Given the description of an element on the screen output the (x, y) to click on. 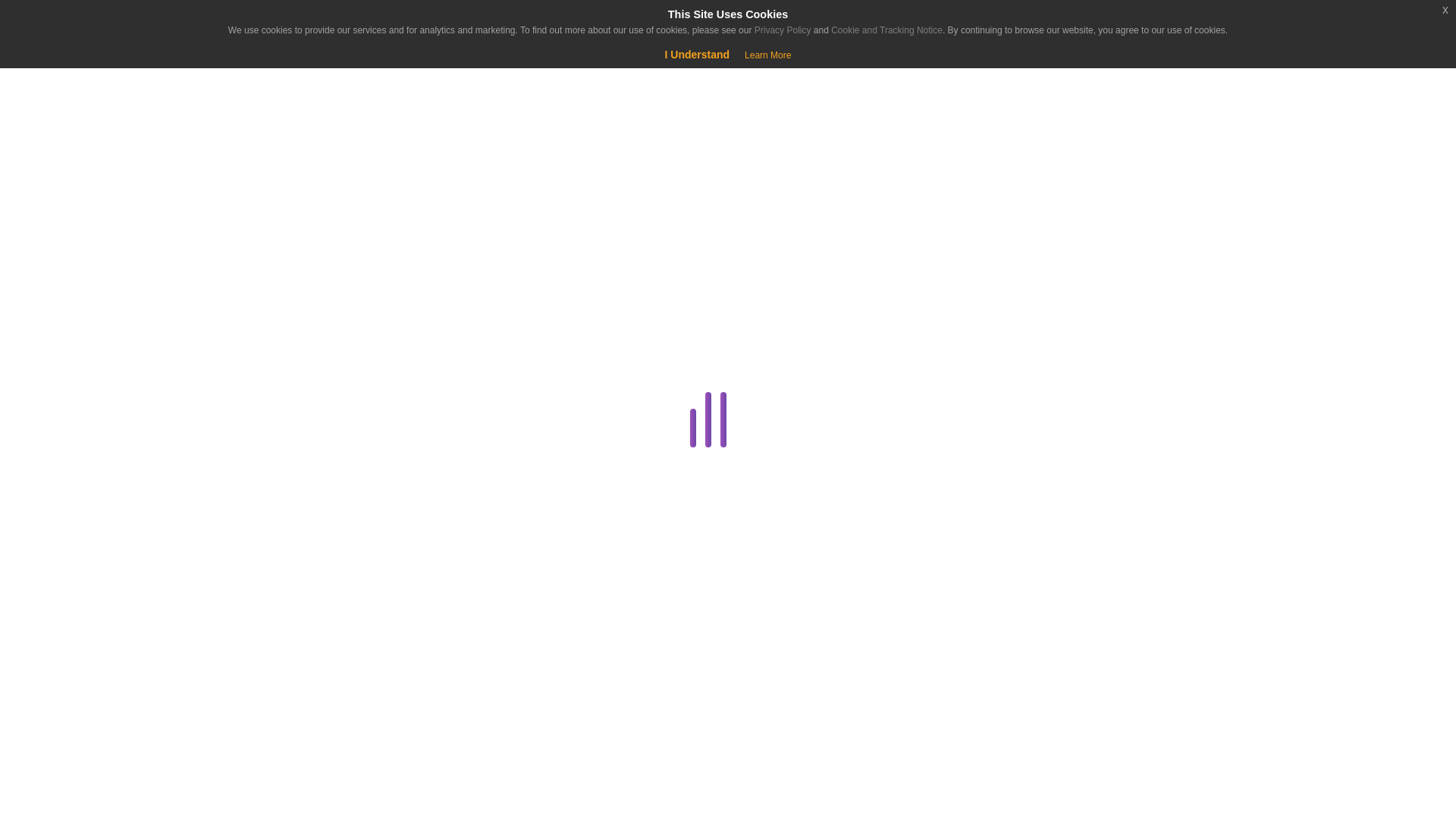
Store (94, 176)
Domains and DNS (281, 531)
FTP (283, 640)
Home (94, 138)
Email (281, 604)
Software (281, 786)
Shopping Cart (59, 76)
Databases (281, 458)
Linux Administration (281, 750)
Billing (281, 349)
Colocation Guides (283, 385)
Video Tutorials (281, 816)
General (281, 677)
Affiliates (283, 312)
Dedicated Server Guides (281, 495)
